Given the description of an element on the screen output the (x, y) to click on. 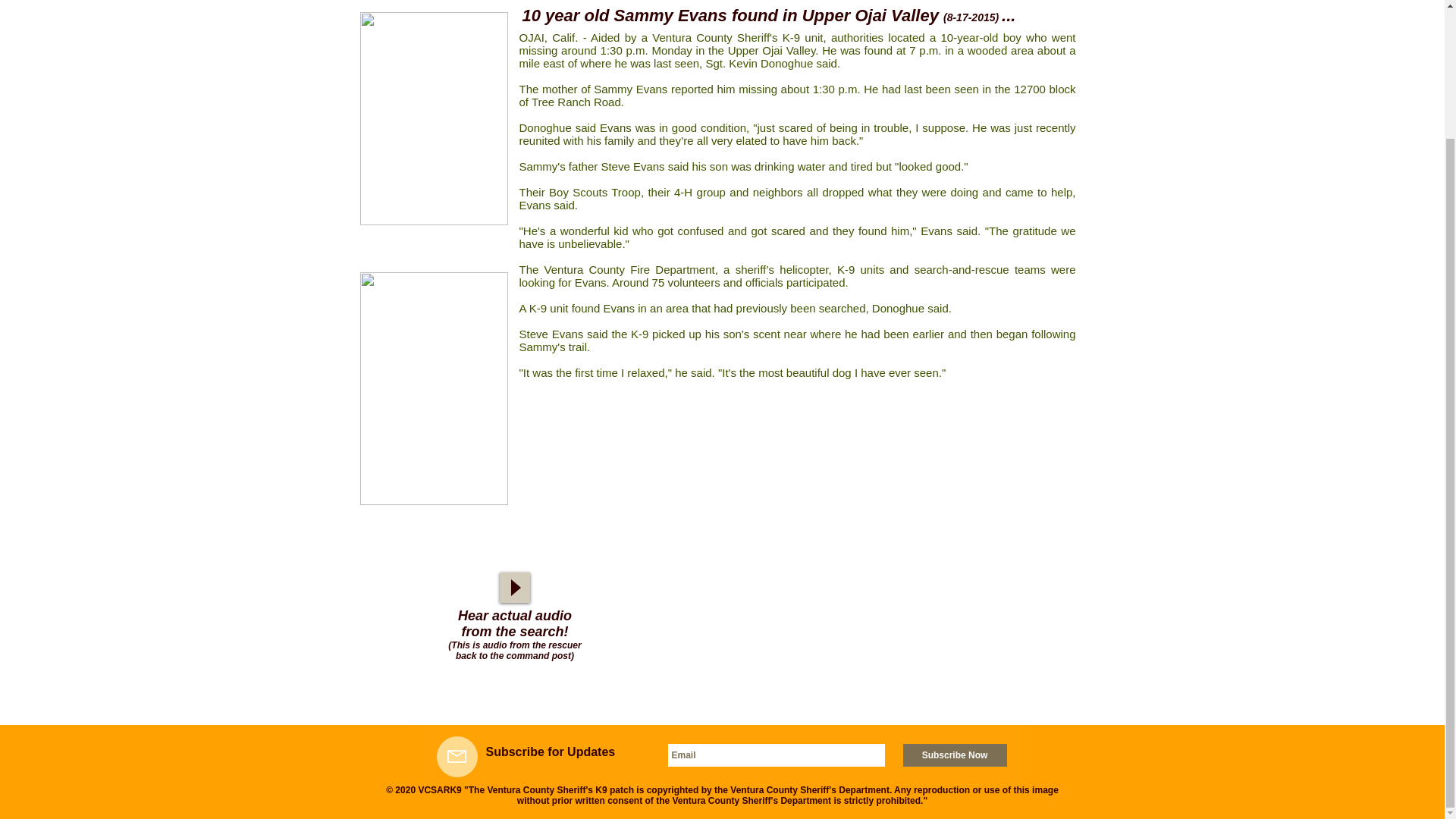
External YouTube (808, 622)
Subscribe Now (954, 754)
